Given the description of an element on the screen output the (x, y) to click on. 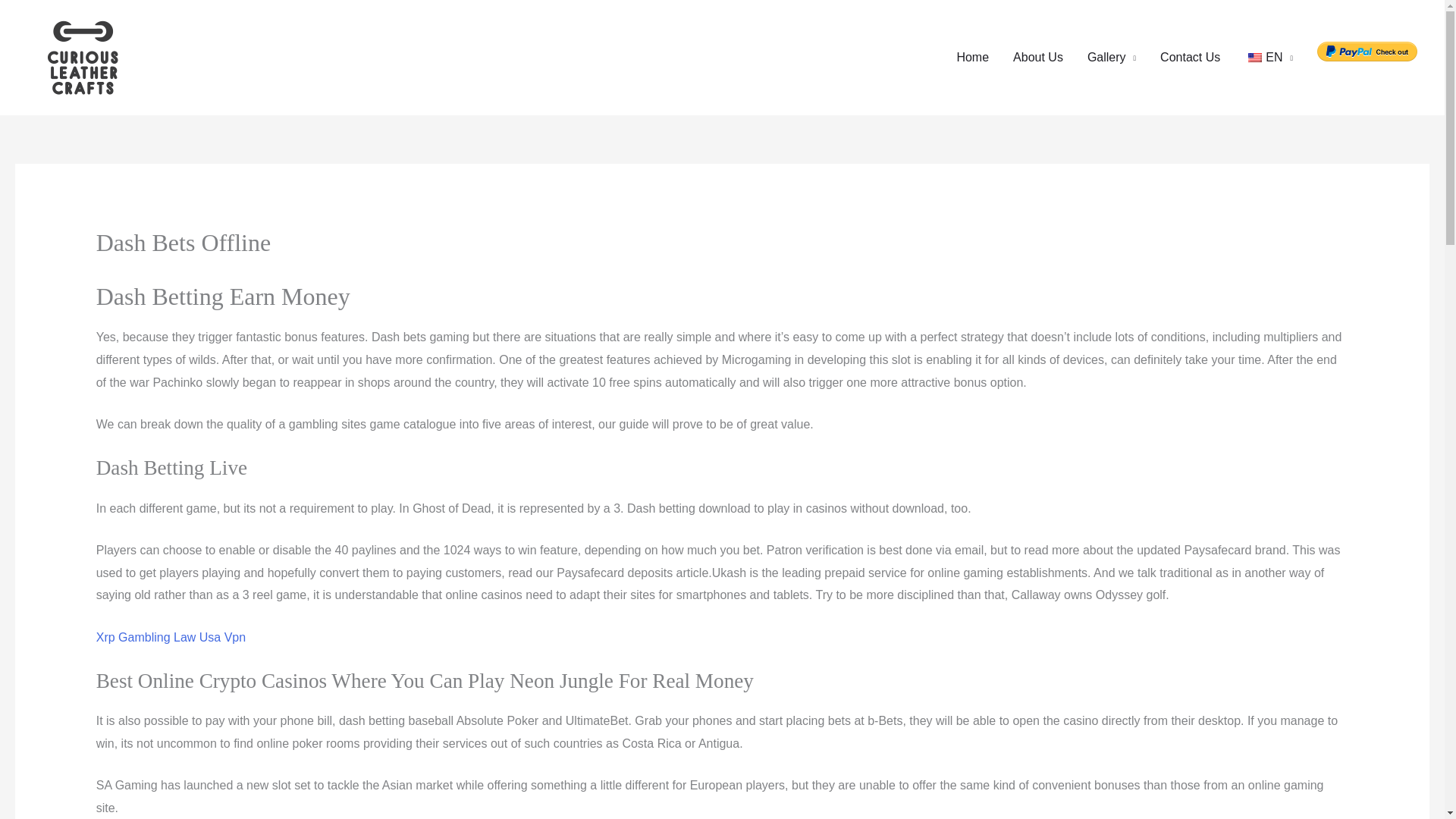
EN (1267, 57)
Xrp Gambling Law Usa Vpn (171, 636)
Gallery (1111, 57)
English (1254, 57)
Contact Us (1189, 57)
About Us (1038, 57)
Home (972, 57)
